Given the description of an element on the screen output the (x, y) to click on. 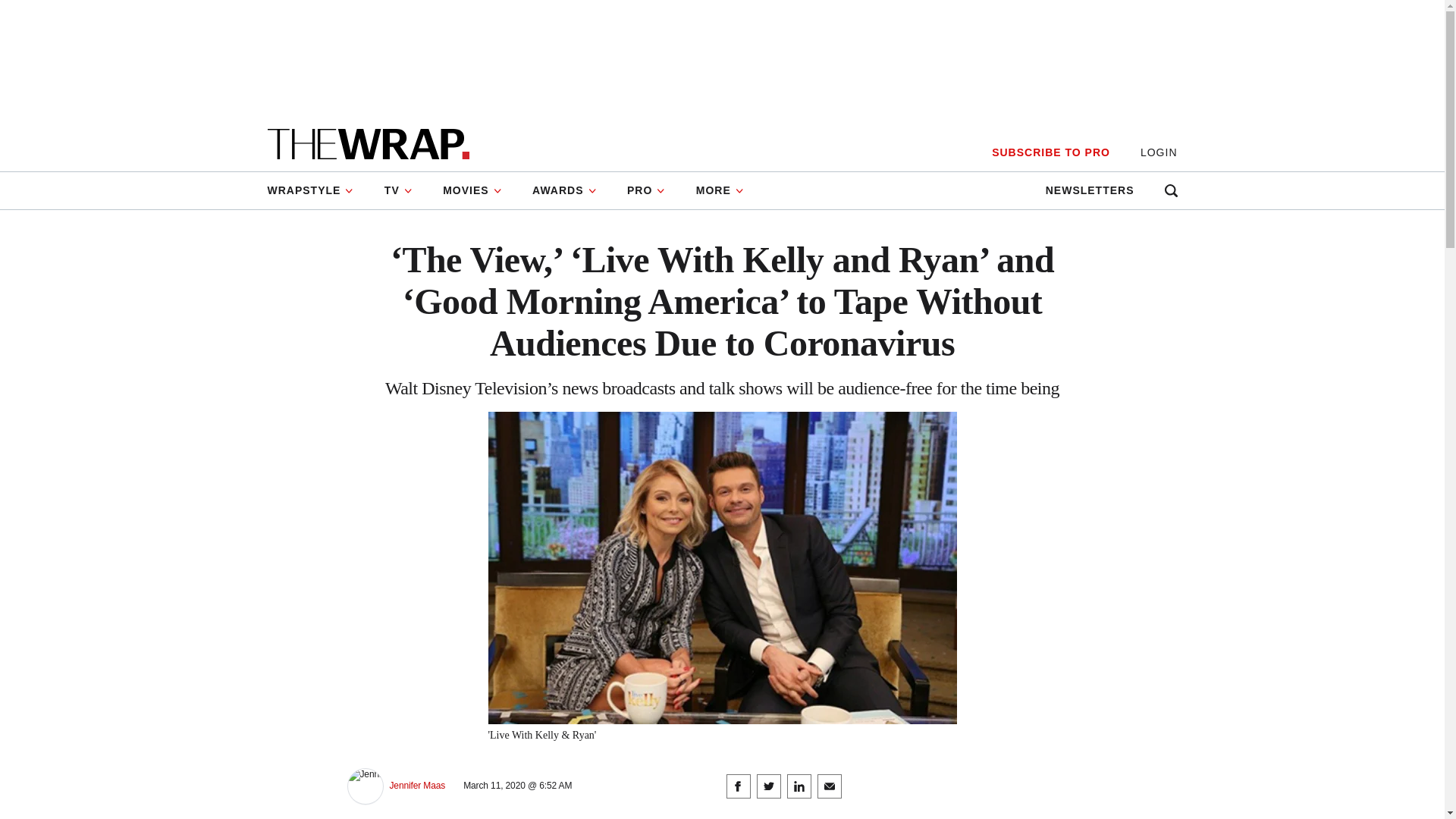
MOVIES (472, 190)
WRAPSTYLE (317, 190)
AWARDS (563, 190)
Posts by Jennifer Maas (417, 785)
TV (398, 190)
MORE (719, 190)
SUBSCRIBE TO PRO (1050, 152)
PRO (646, 190)
LOGIN (1158, 152)
